Given the description of an element on the screen output the (x, y) to click on. 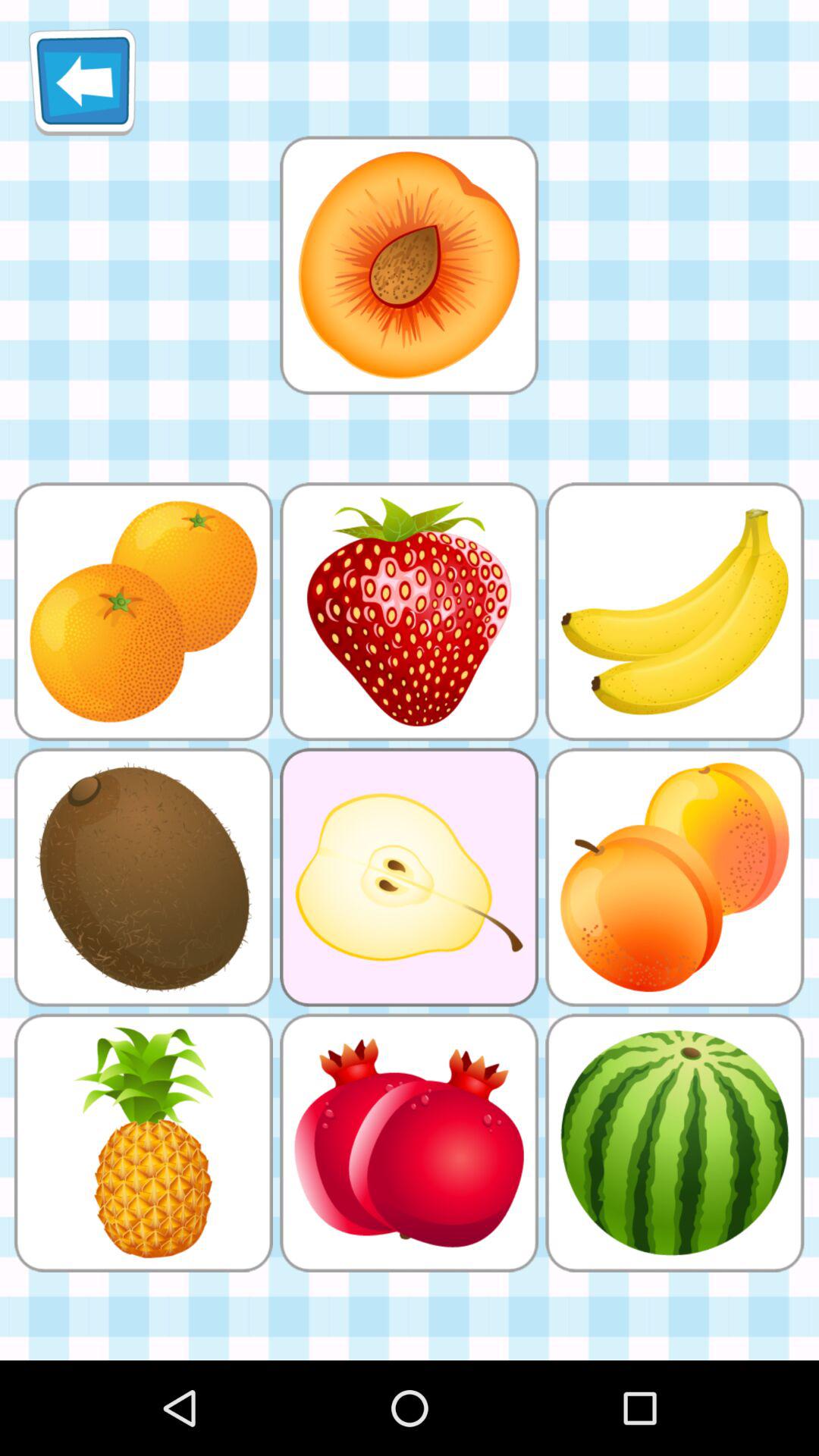
element to be selected (409, 265)
